Given the description of an element on the screen output the (x, y) to click on. 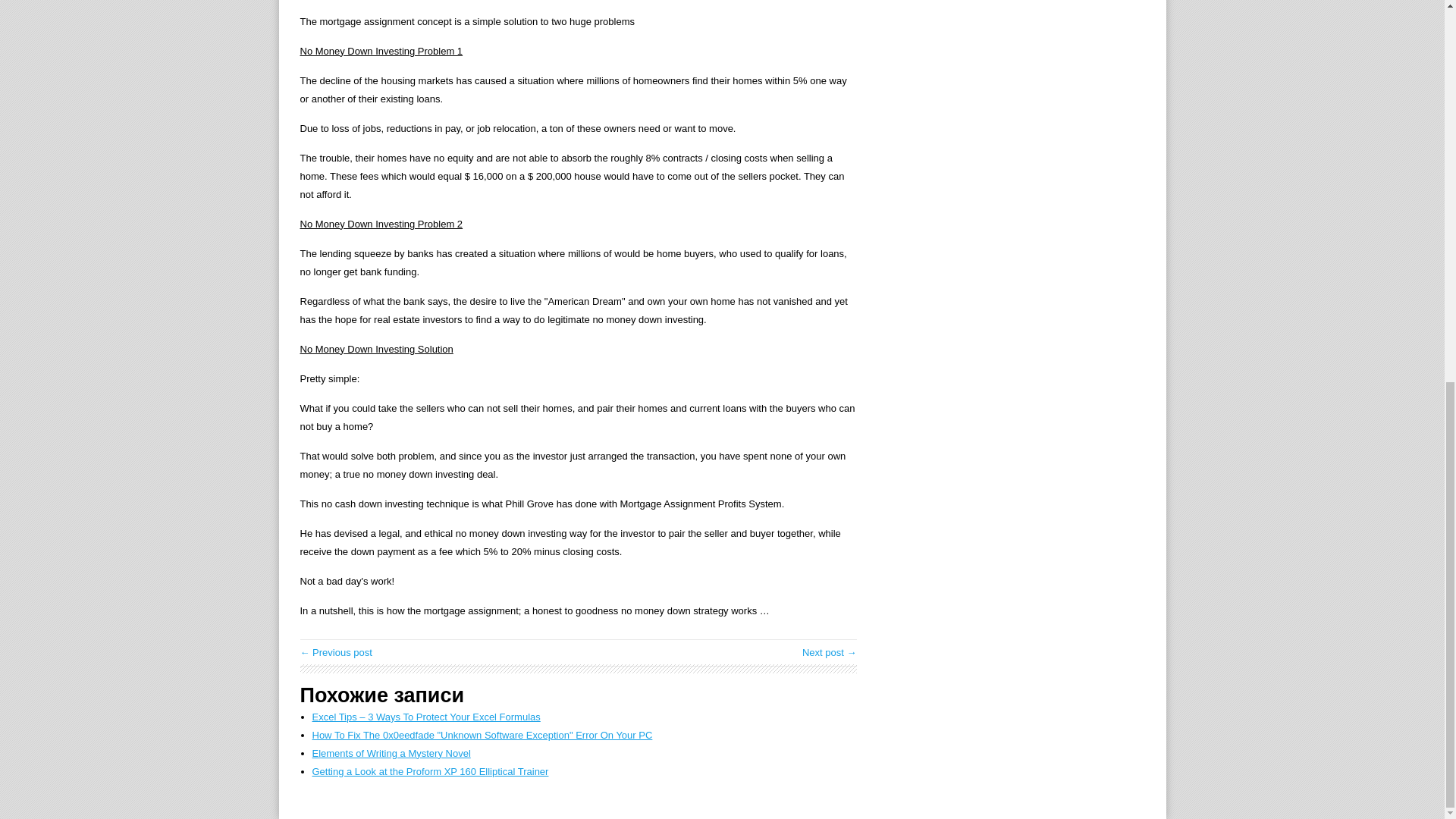
Elements of Writing a Mystery Novel (391, 753)
Web Designing: An Efficient Tool in the Business Development (335, 652)
Getting a Look at the Proform XP 160 Elliptical Trainer (430, 771)
How-To - Transferring Songs Between Your iPod and Computer (829, 652)
